Given the description of an element on the screen output the (x, y) to click on. 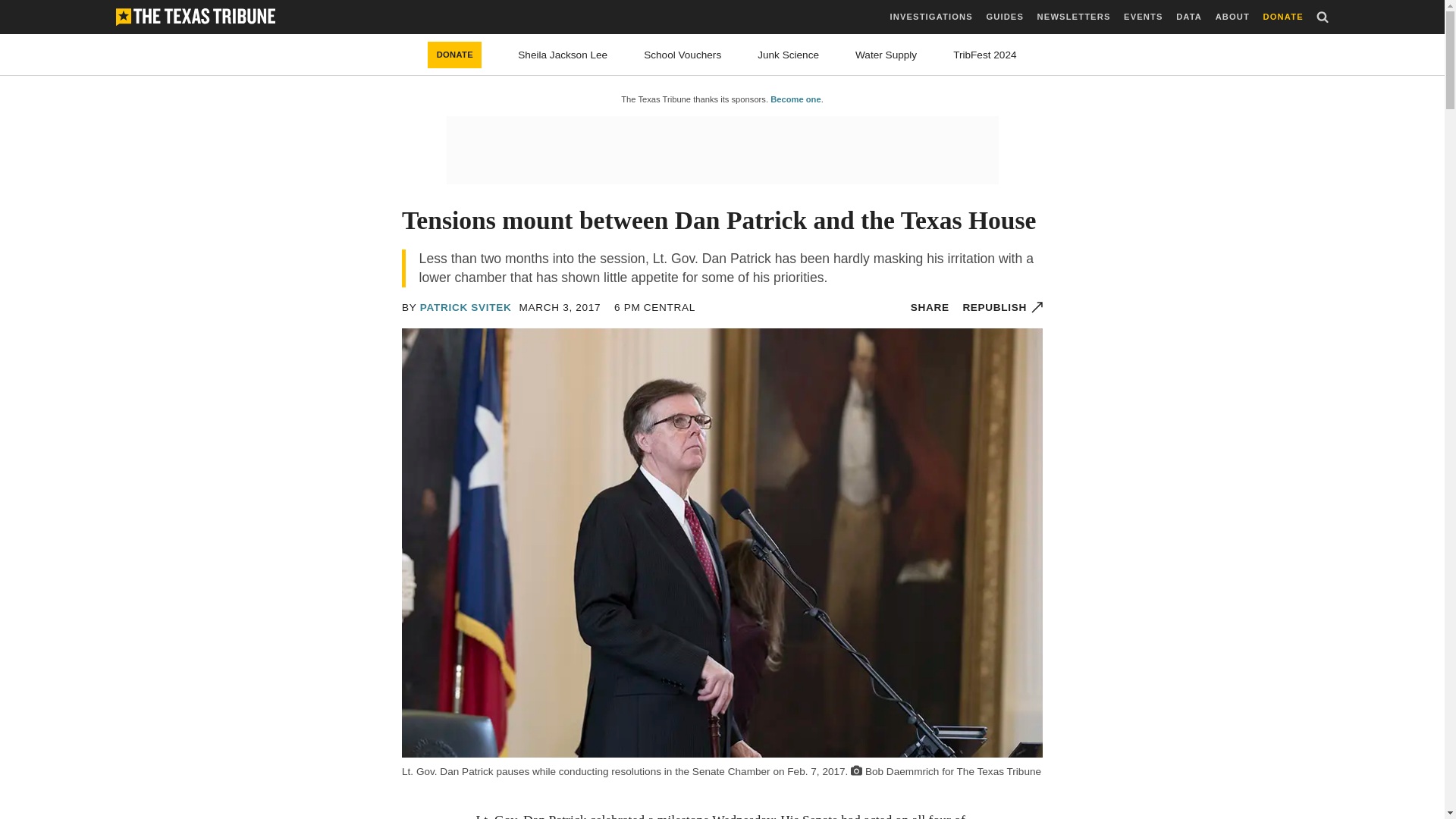
EVENTS (1142, 17)
DONATE (1283, 17)
Sheila Jackson Lee (562, 54)
School Vouchers (681, 54)
2017-03-03 18:05 CST (654, 307)
NEWSLETTERS (1073, 17)
TribFest 2024 (984, 54)
REPUBLISH (1002, 307)
2017-03-03 18:05 CST (560, 307)
GUIDES (1004, 17)
Water Supply (886, 54)
PATRICK SVITEK (466, 307)
Junk Science (787, 54)
DONATE (454, 54)
ABOUT (1232, 17)
